Given the description of an element on the screen output the (x, y) to click on. 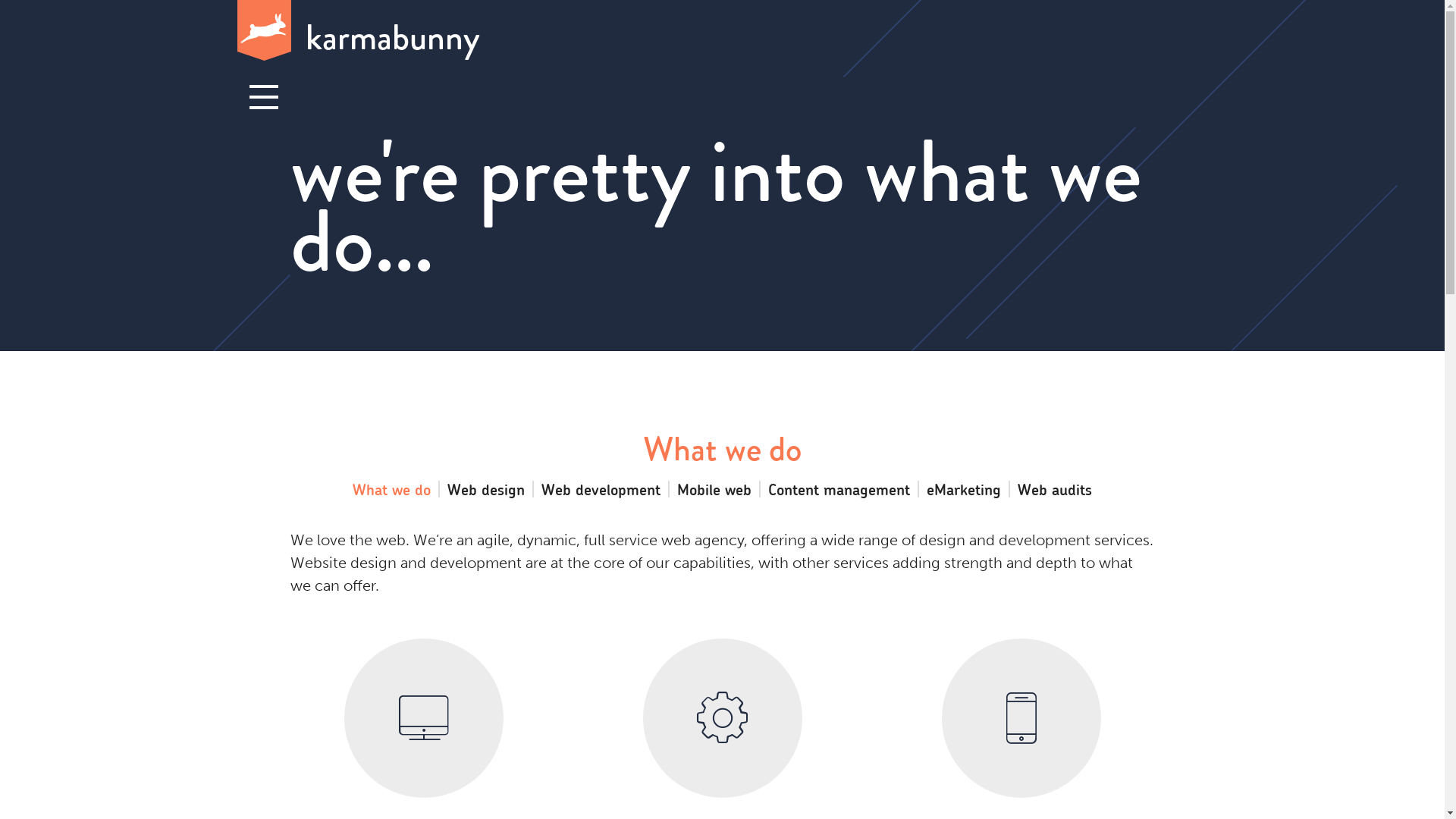
Toggle menu Element type: text (263, 97)
Web audits Element type: text (1054, 488)
karmabunny Element type: text (721, 32)
eMarketing Element type: text (963, 488)
What we do Element type: text (391, 488)
Content management Element type: text (839, 488)
Web design Element type: text (485, 488)
Web development Element type: text (600, 488)
Mobile web Element type: text (714, 488)
